Given the description of an element on the screen output the (x, y) to click on. 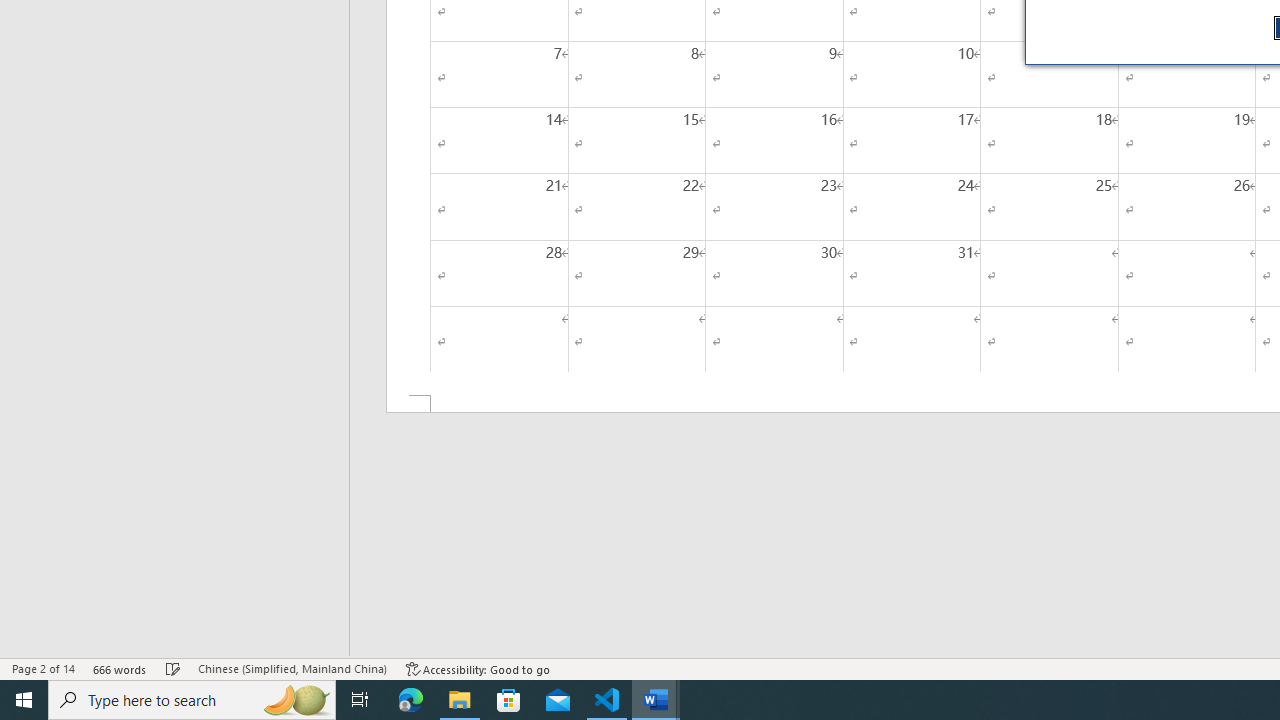
Visual Studio Code - 1 running window (607, 699)
Page Number Page 2 of 14 (43, 668)
Task View (359, 699)
Word Count 666 words (119, 668)
Microsoft Store (509, 699)
Start (24, 699)
File Explorer - 1 running window (460, 699)
Word - 2 running windows (656, 699)
Spelling and Grammar Check Checking (173, 668)
Microsoft Edge (411, 699)
Accessibility Checker Accessibility: Good to go (478, 668)
Search highlights icon opens search home window (295, 699)
Type here to search (191, 699)
